Given the description of an element on the screen output the (x, y) to click on. 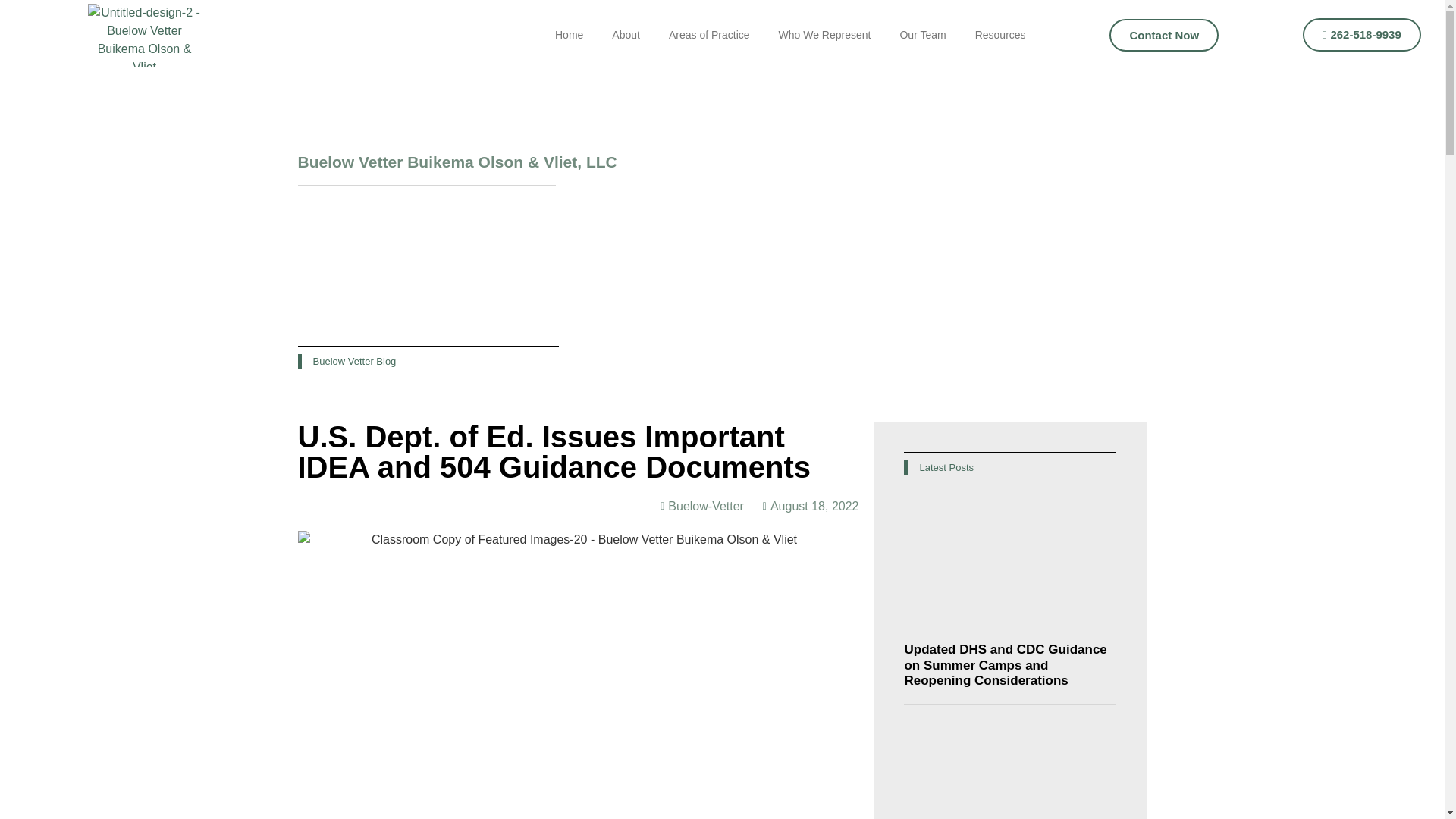
About (624, 34)
Home (568, 34)
Our Team (922, 34)
Areas of Practice (708, 34)
Who We Represent (824, 34)
Resources (1000, 34)
